Given the description of an element on the screen output the (x, y) to click on. 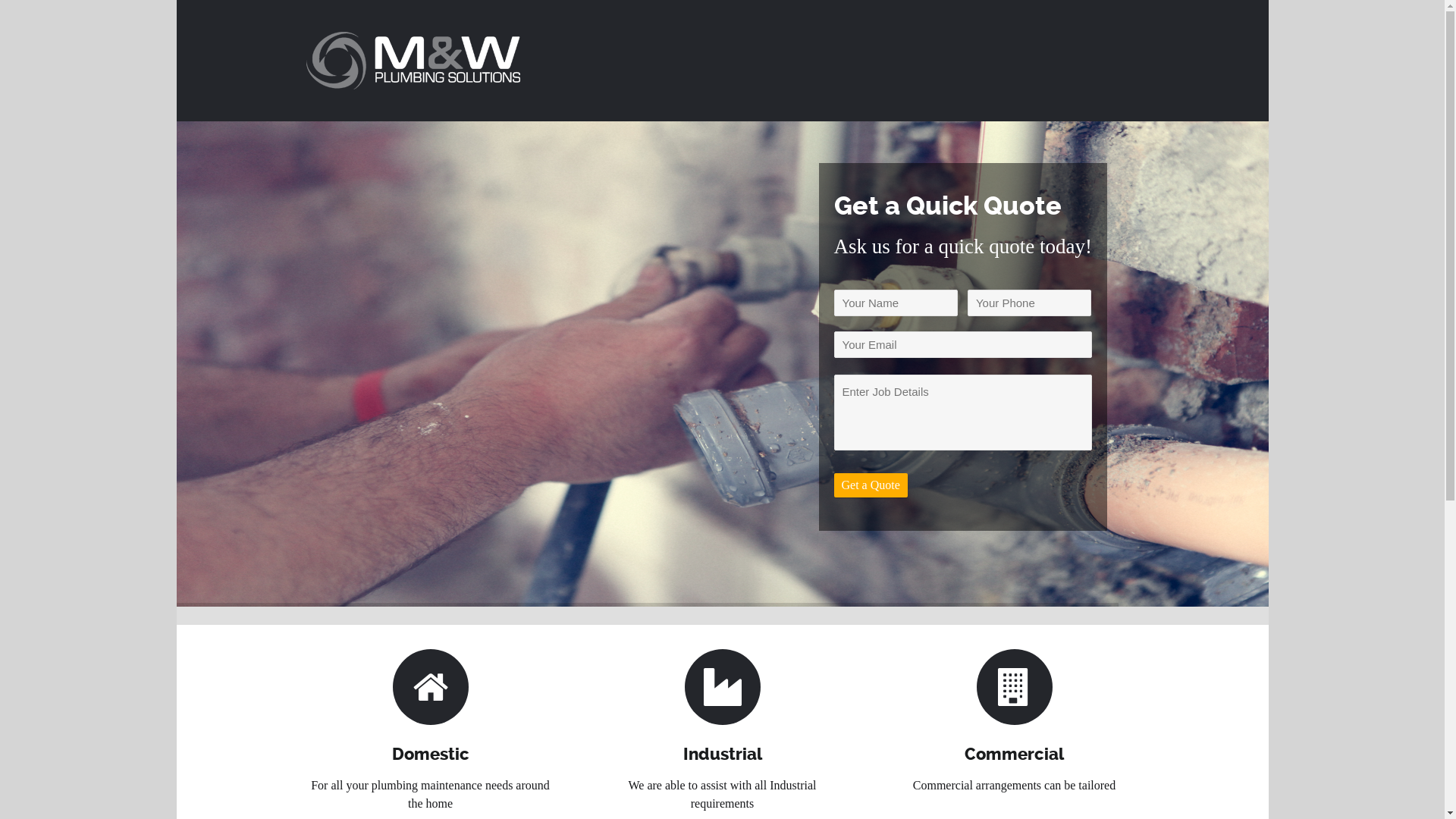
Get a Quote Element type: text (870, 485)
